Given the description of an element on the screen output the (x, y) to click on. 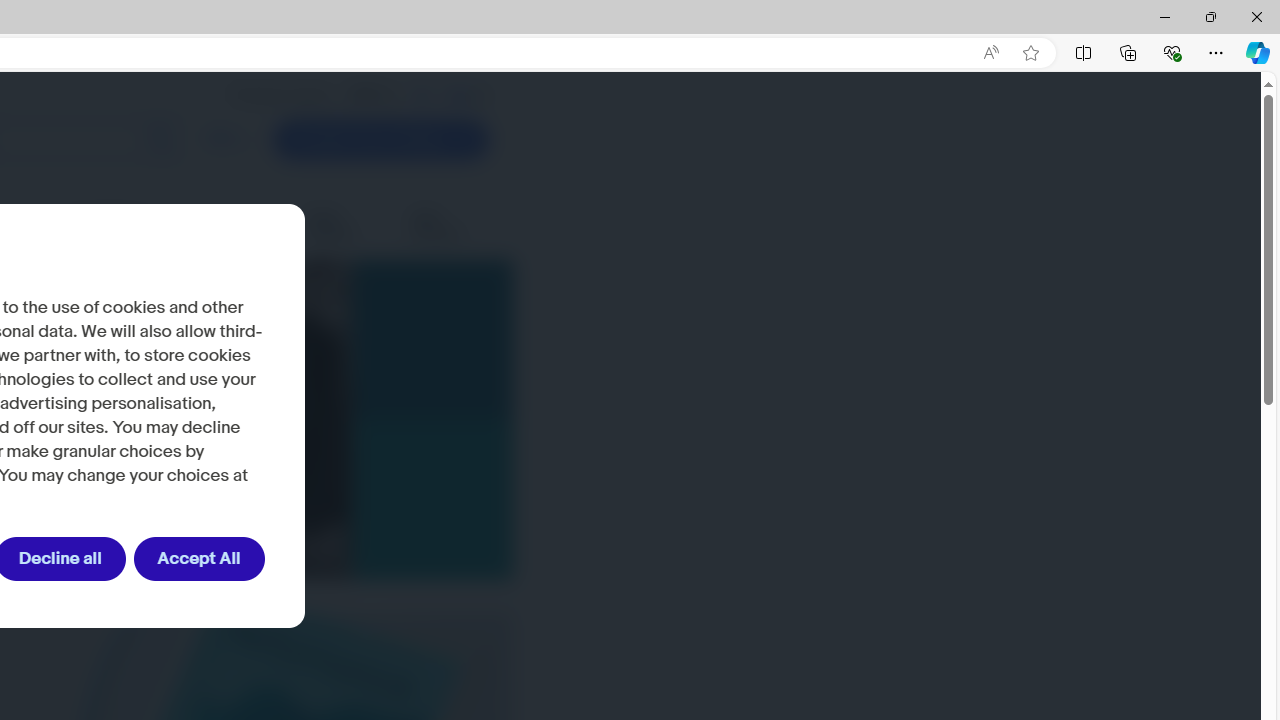
Regulations & policies (132, 225)
Accept All (198, 559)
IN (421, 95)
Class: search-input__icon (160, 139)
Seller updates (345, 225)
Class: btn__arrow (461, 139)
Class: header__toplink-icon (480, 95)
eBay Partners (450, 225)
